Given the description of an element on the screen output the (x, y) to click on. 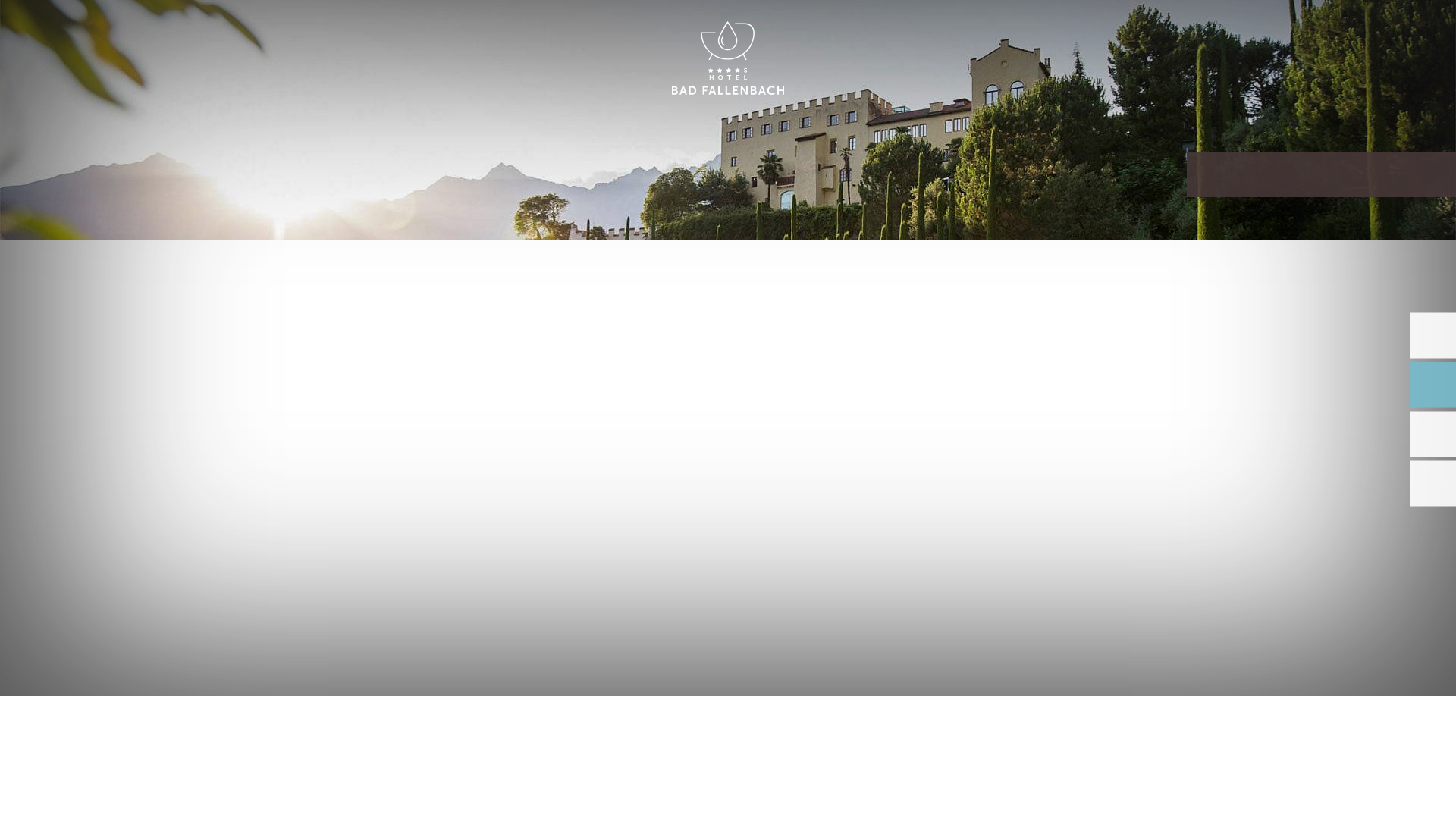
ENGLISH (1291, 29)
HOTEL BAD FALLENBACH (727, 59)
